Given the description of an element on the screen output the (x, y) to click on. 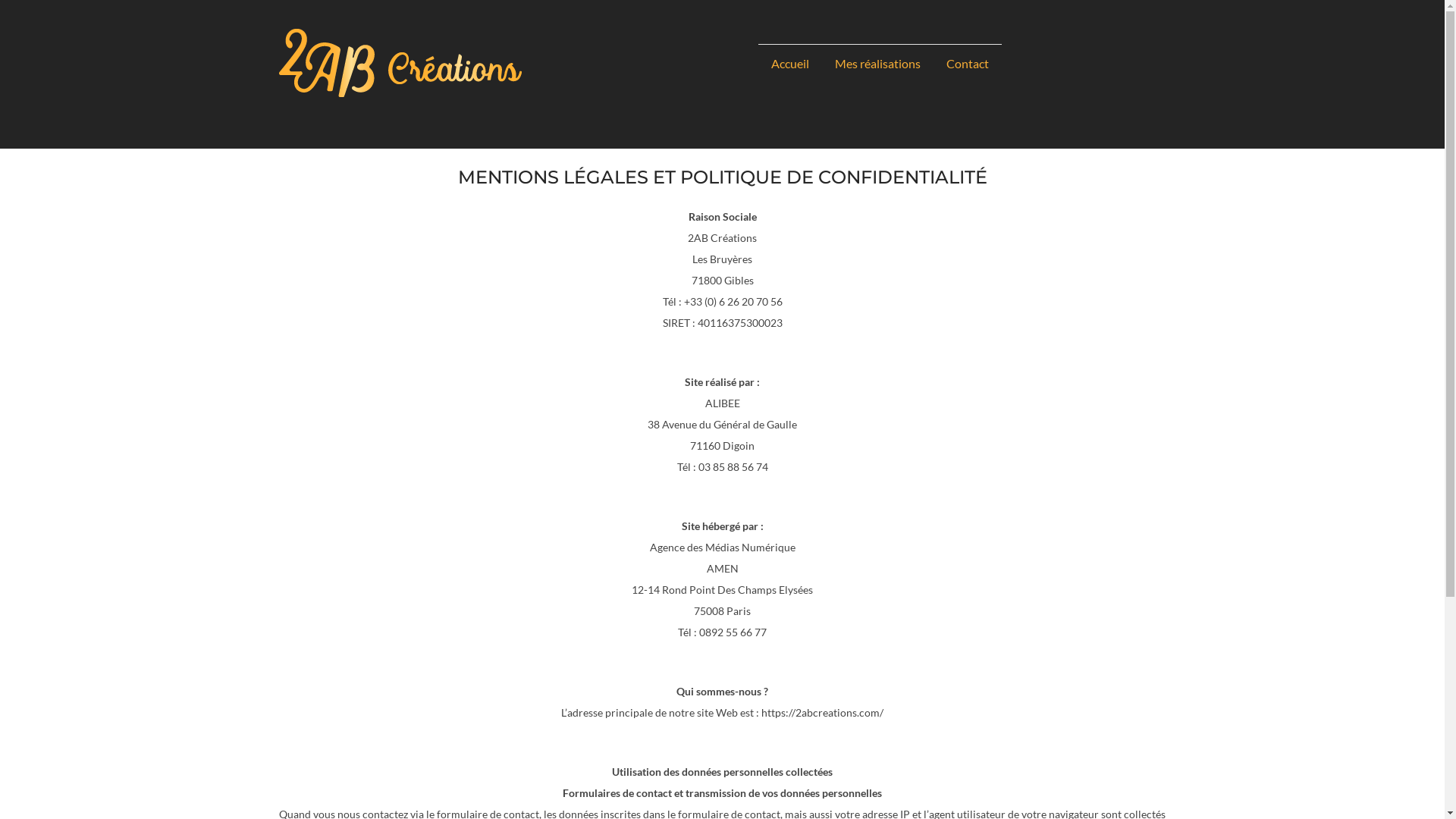
Accueil Element type: text (790, 62)
Contact Element type: text (966, 62)
